Given the description of an element on the screen output the (x, y) to click on. 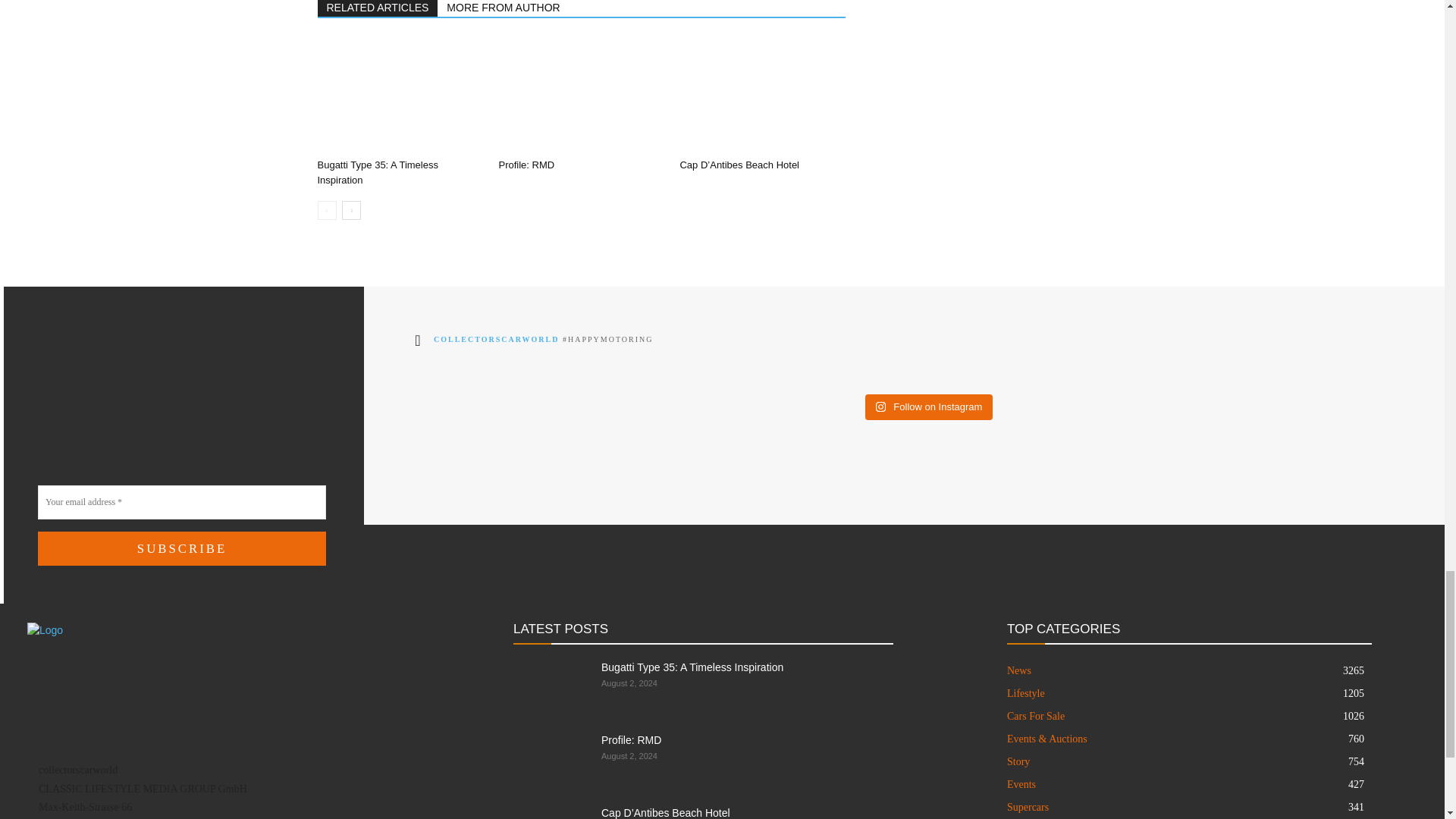
SUBSCRIBE (181, 548)
